Given the description of an element on the screen output the (x, y) to click on. 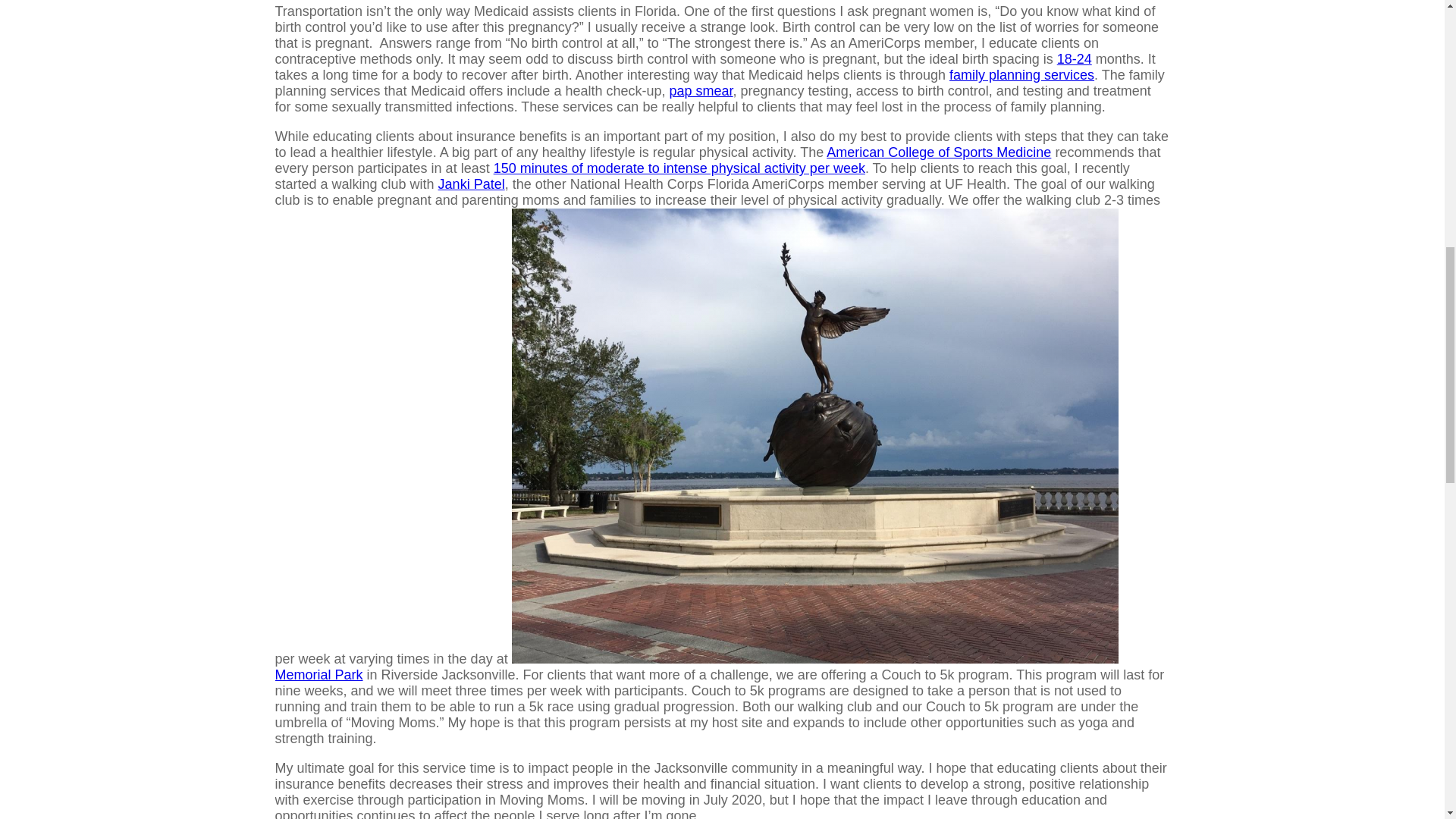
American College of Sports Medicine (939, 151)
pap smear (700, 90)
Memorial Park (318, 674)
18-24 (1074, 58)
family planning services (1021, 74)
Janki Patel (471, 183)
